Given the description of an element on the screen output the (x, y) to click on. 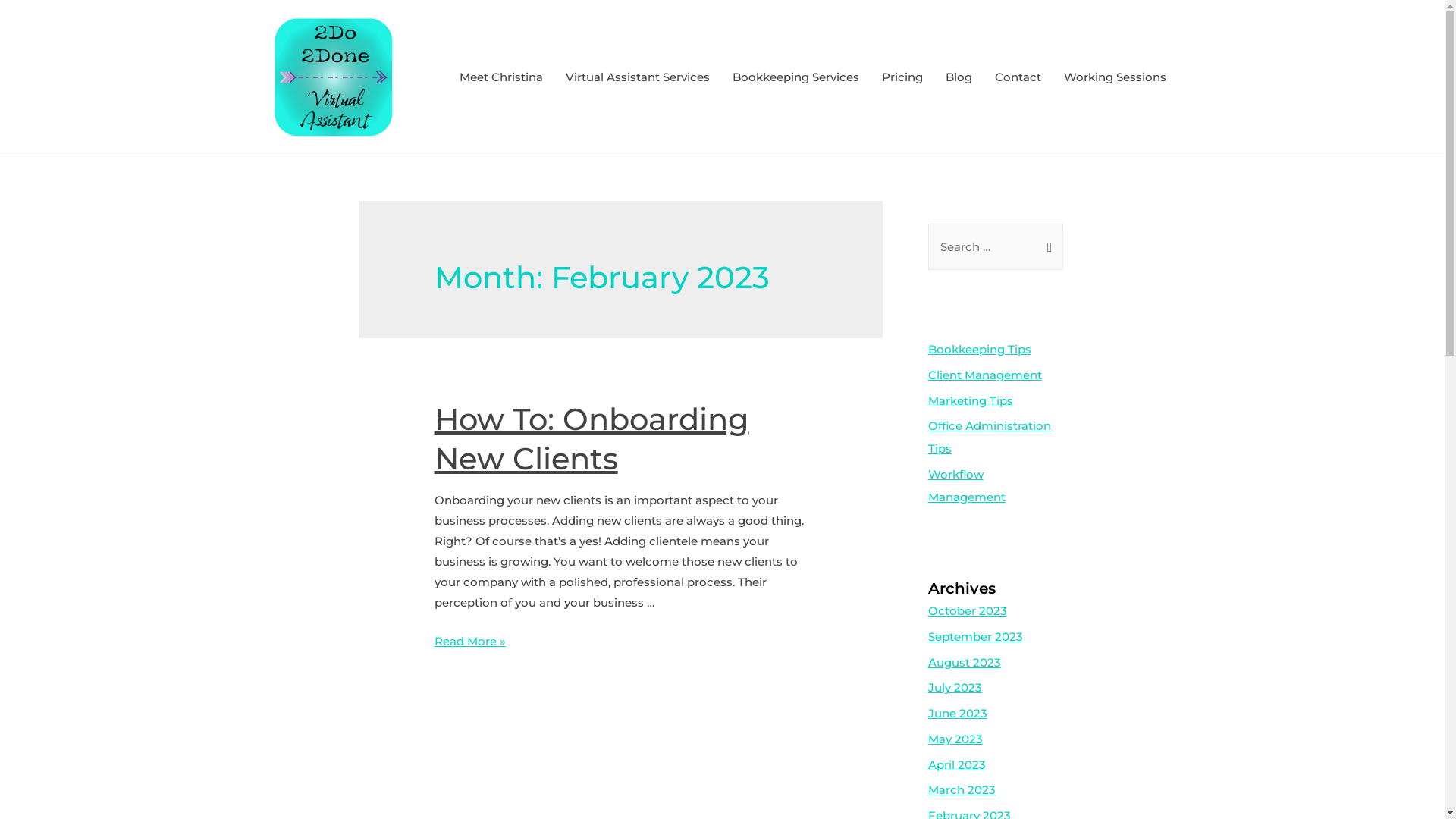
Meet Christina Element type: text (500, 77)
Pricing Element type: text (902, 77)
Search Element type: text (1046, 238)
August 2023 Element type: text (964, 662)
Client Management Element type: text (984, 374)
Blog Element type: text (958, 77)
Bookkeeping Tips Element type: text (979, 349)
July 2023 Element type: text (955, 687)
Contact Element type: text (1016, 77)
Working Sessions Element type: text (1114, 77)
Workflow Management Element type: text (966, 485)
Office Administration Tips Element type: text (989, 436)
April 2023 Element type: text (956, 763)
October 2023 Element type: text (967, 610)
March 2023 Element type: text (961, 789)
May 2023 Element type: text (955, 738)
Marketing Tips Element type: text (970, 399)
Bookkeeping Services Element type: text (794, 77)
June 2023 Element type: text (957, 713)
September 2023 Element type: text (975, 636)
Virtual Assistant Services Element type: text (636, 77)
How To: Onboarding New Clients Element type: text (591, 438)
